Given the description of an element on the screen output the (x, y) to click on. 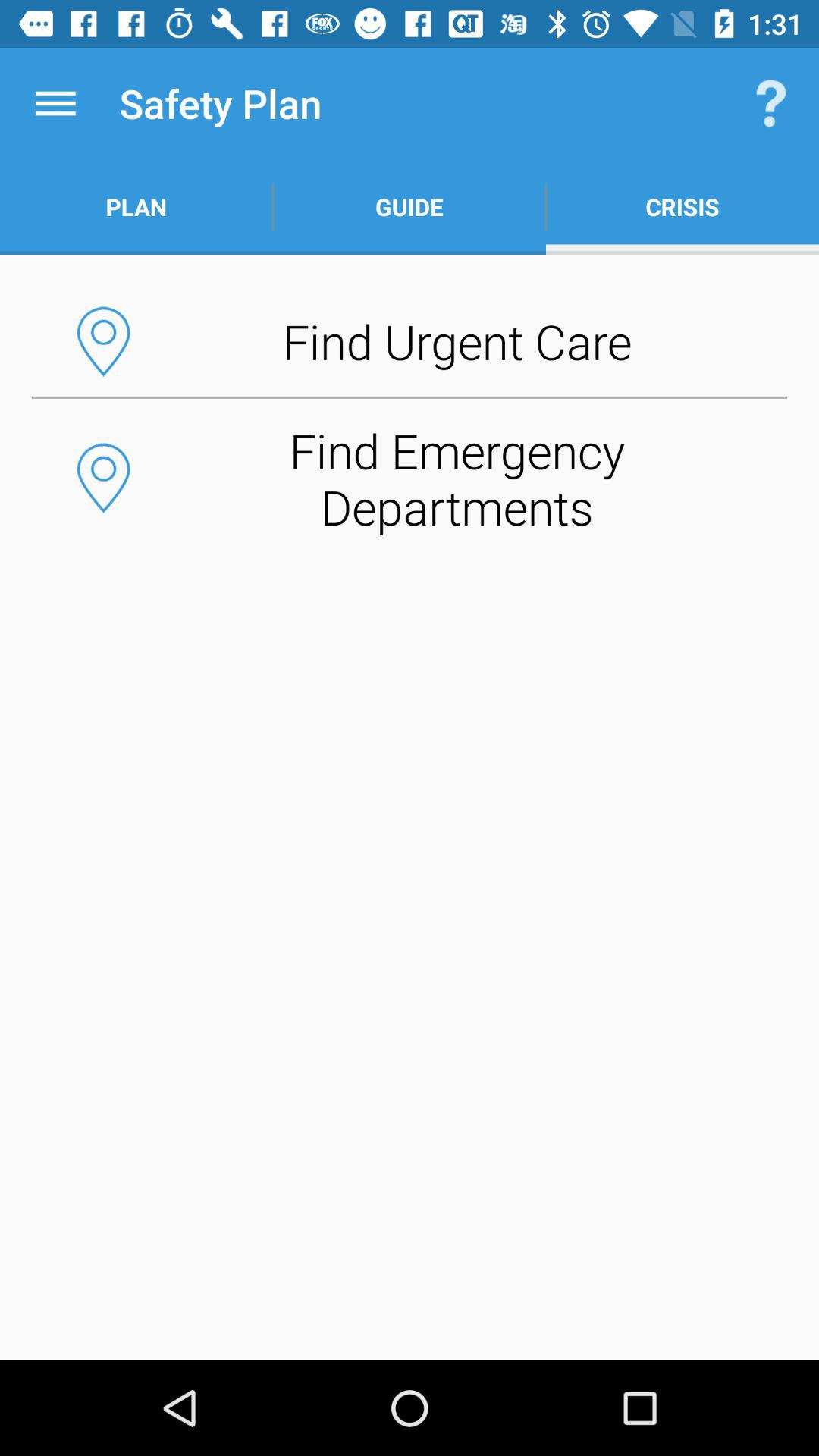
tap the button above the find urgent care (409, 206)
